Given the description of an element on the screen output the (x, y) to click on. 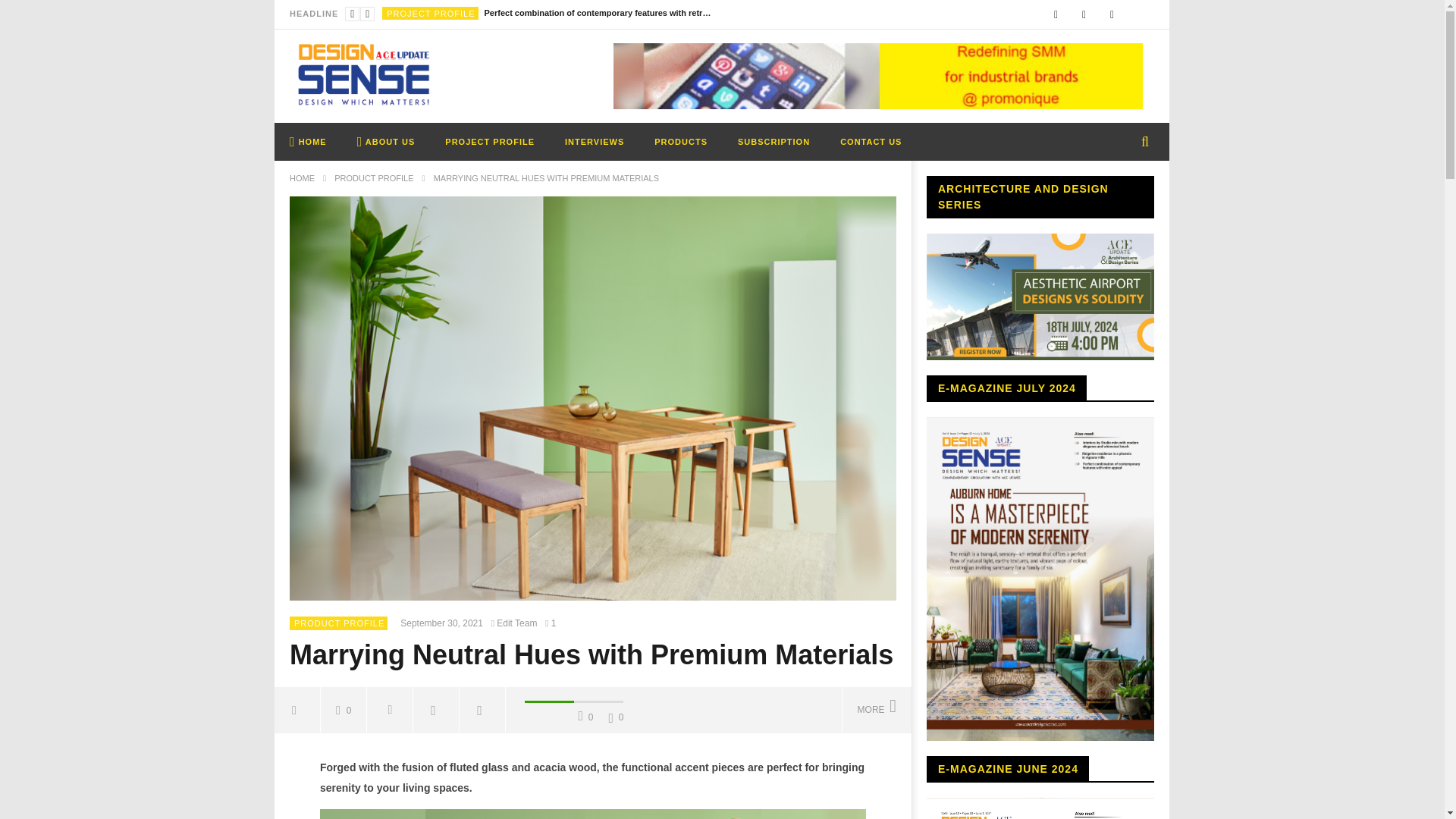
September 30, 2021 (443, 623)
PRODUCT PROFILE (339, 623)
1 (552, 623)
DESIGN SENSE (363, 75)
PROJECT PROFILE (489, 141)
ABOUT US (386, 141)
PROJECT PROFILE (430, 13)
Edit Team (517, 623)
View all posts in Project Profile (430, 13)
HOME (301, 177)
PRODUCTS (680, 141)
LinkedIn (1083, 14)
SUBSCRIPTION (773, 141)
CONTACT US (871, 141)
